Given the description of an element on the screen output the (x, y) to click on. 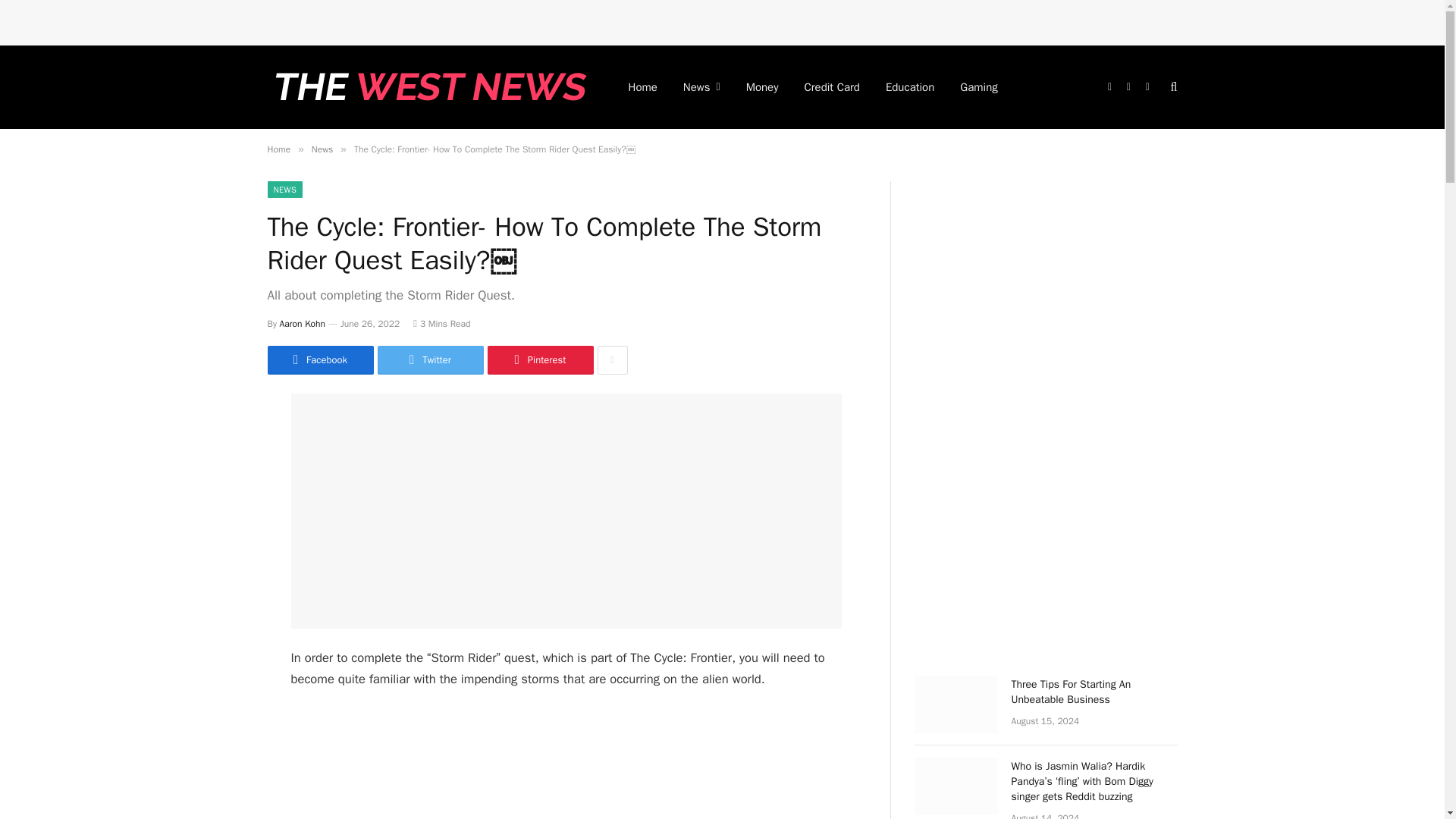
News (322, 149)
Share on Facebook (319, 359)
Share on Pinterest (539, 359)
Credit Card (832, 86)
Facebook (319, 359)
Pinterest (539, 359)
The West News (427, 86)
Education (909, 86)
Aaron Kohn (301, 323)
Posts by Aaron Kohn (301, 323)
